Given the description of an element on the screen output the (x, y) to click on. 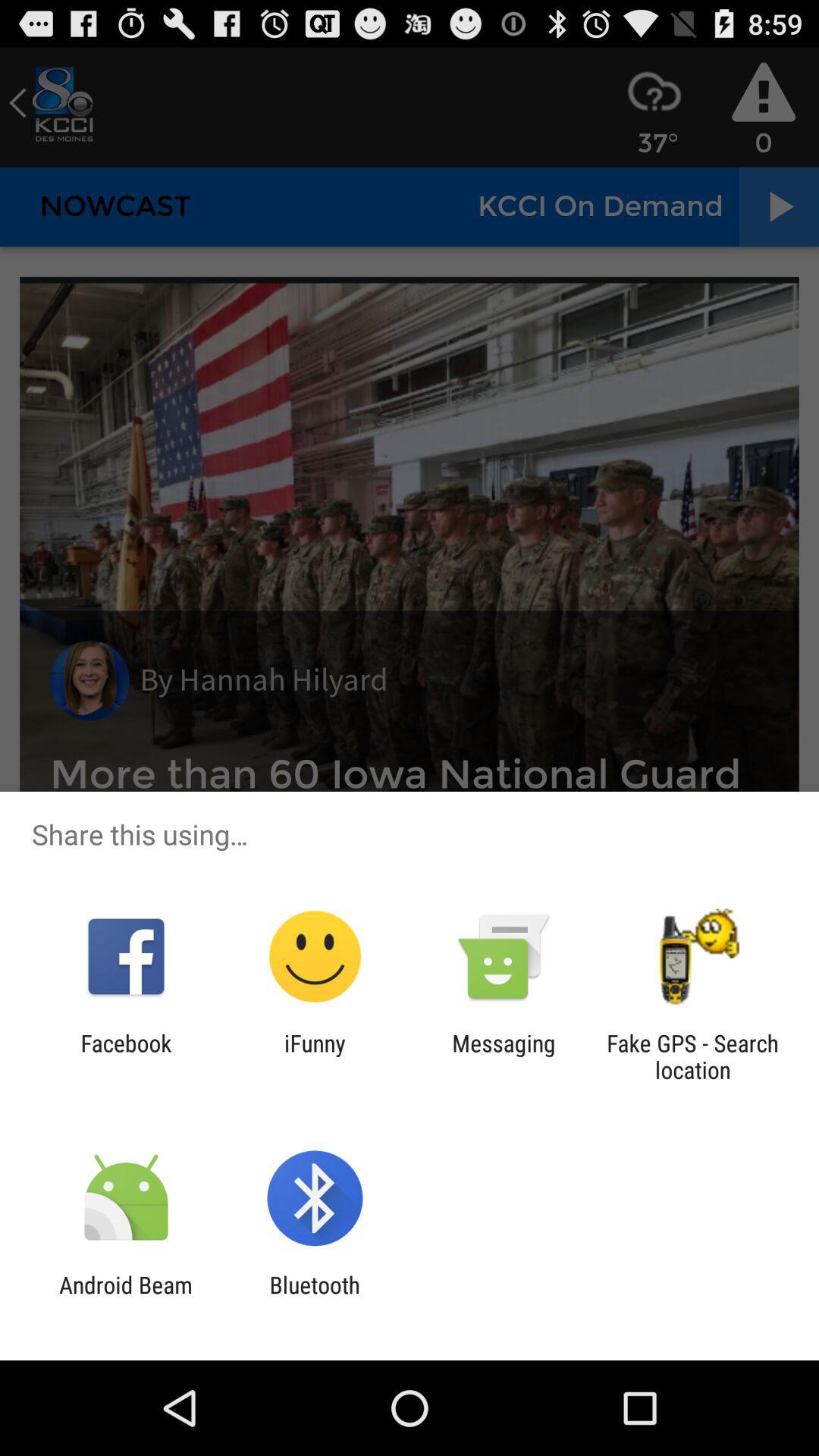
tap app next to the ifunny app (503, 1056)
